Given the description of an element on the screen output the (x, y) to click on. 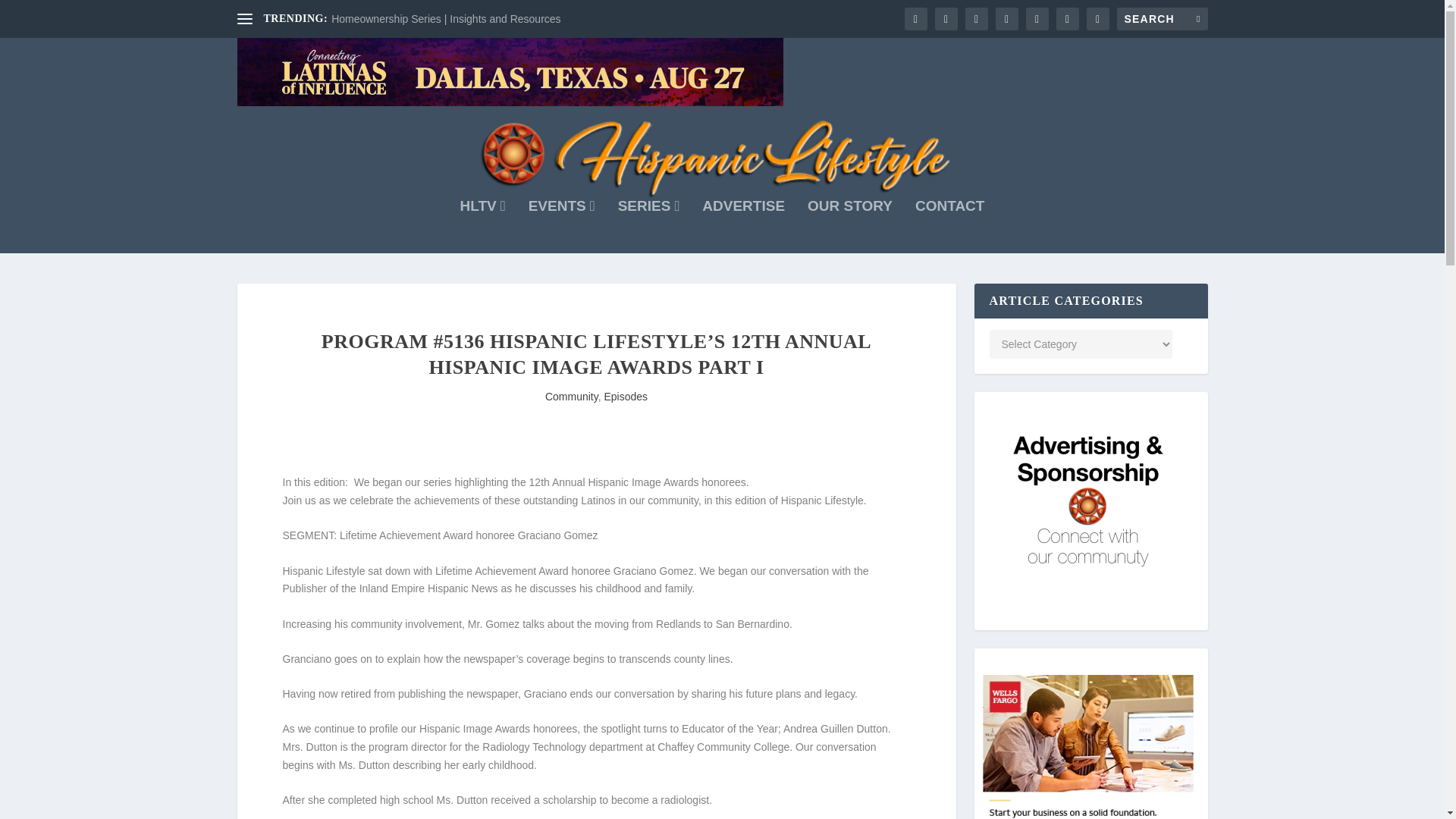
EVENTS (561, 226)
HLTV (482, 226)
Search for: (1161, 18)
